Given the description of an element on the screen output the (x, y) to click on. 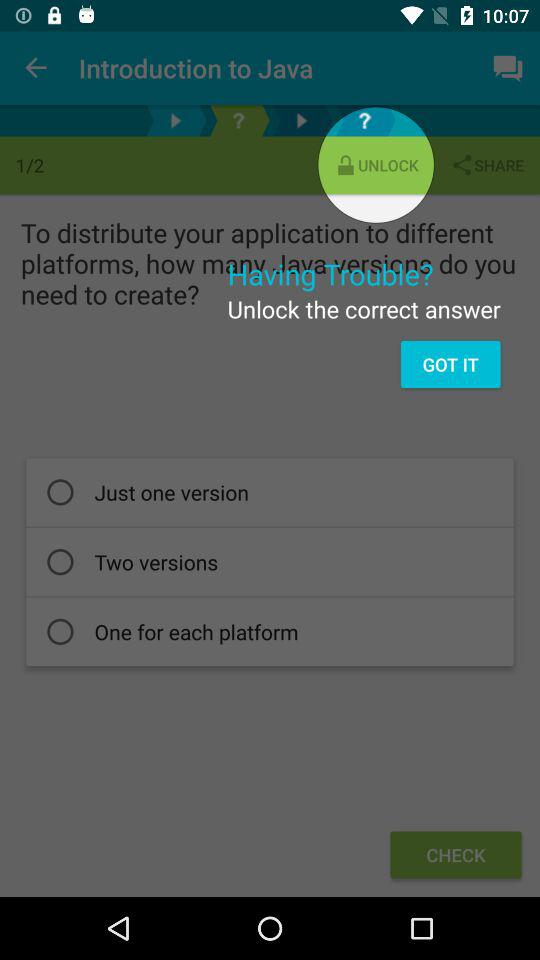
lock option (238, 120)
